Given the description of an element on the screen output the (x, y) to click on. 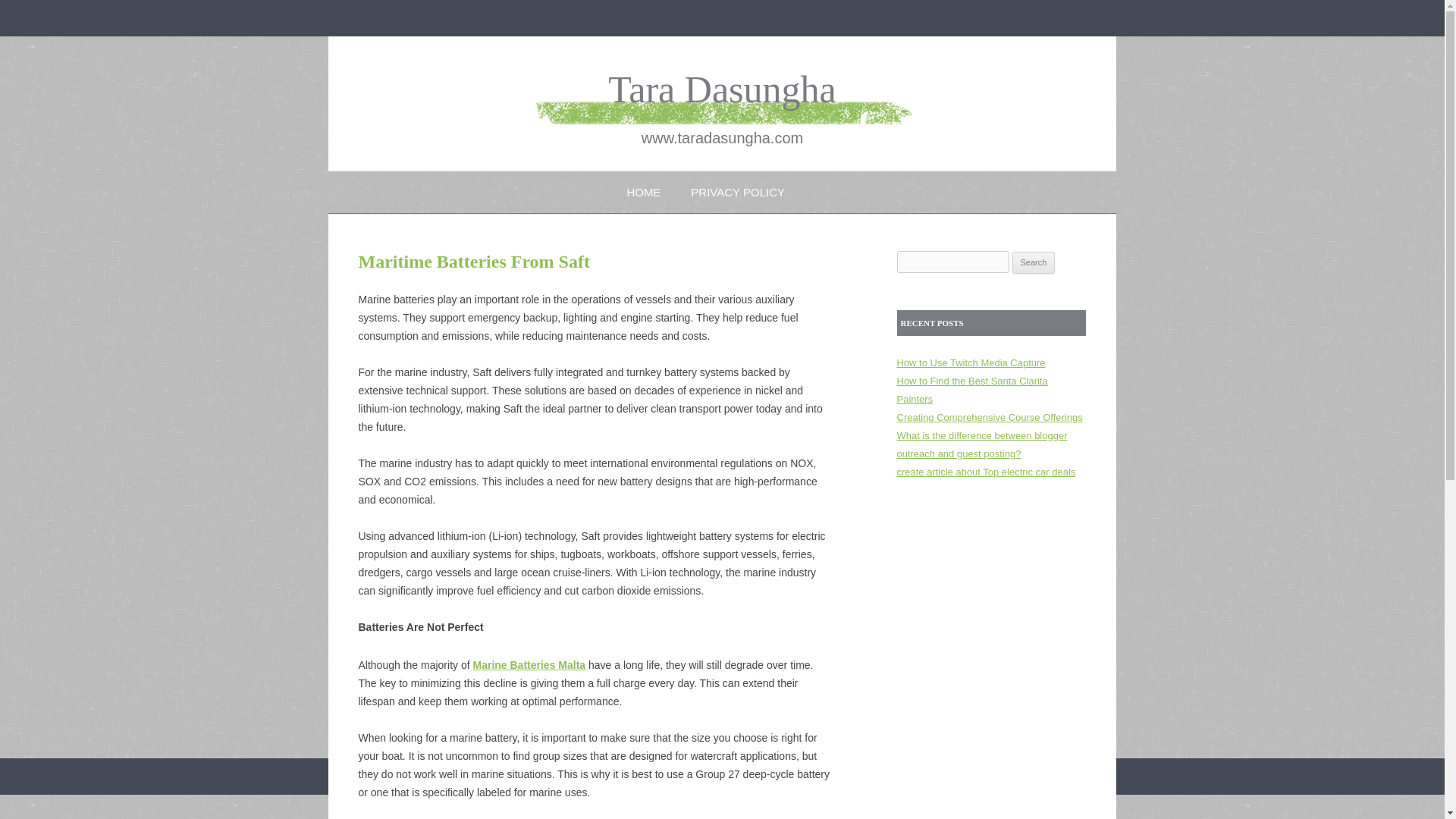
Search (1033, 262)
Marine Batteries Malta (528, 664)
Creating Comprehensive Course Offerings (988, 417)
Search (1033, 262)
How to Use Twitch Media Capture (970, 362)
create article about Top electric car deals (985, 471)
PRIVACY POLICY (737, 191)
Tara Dasungha (721, 89)
How to Find the Best Santa Clarita Painters (971, 389)
Tara Dasungha (721, 89)
